Given the description of an element on the screen output the (x, y) to click on. 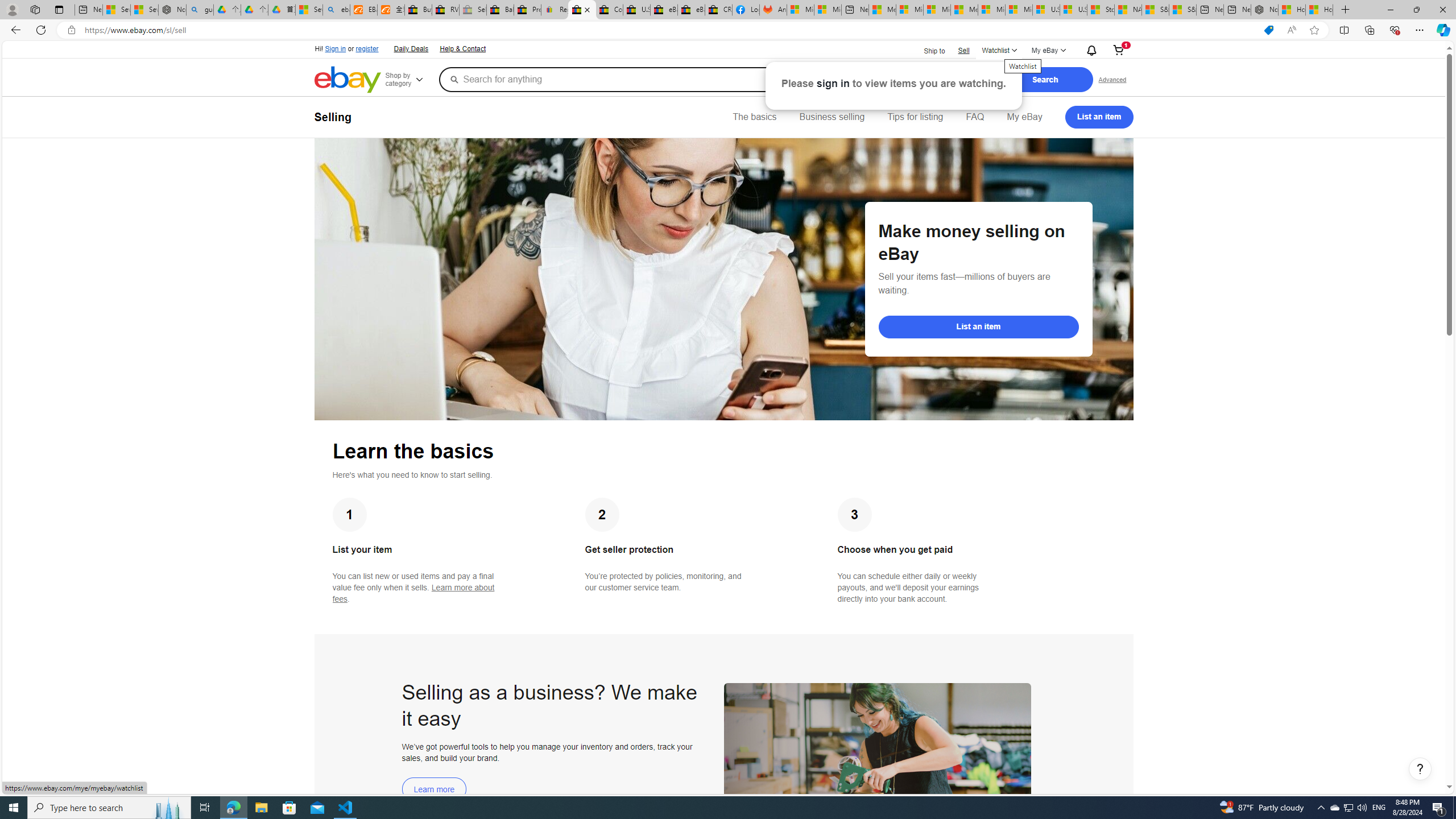
Sell worldwide with eBay - Sleeping (473, 9)
eBay Home (347, 79)
Learn more about fees - opens in new window or tab. (413, 593)
My eBay (1024, 116)
Tips for listing (914, 116)
